Given the description of an element on the screen output the (x, y) to click on. 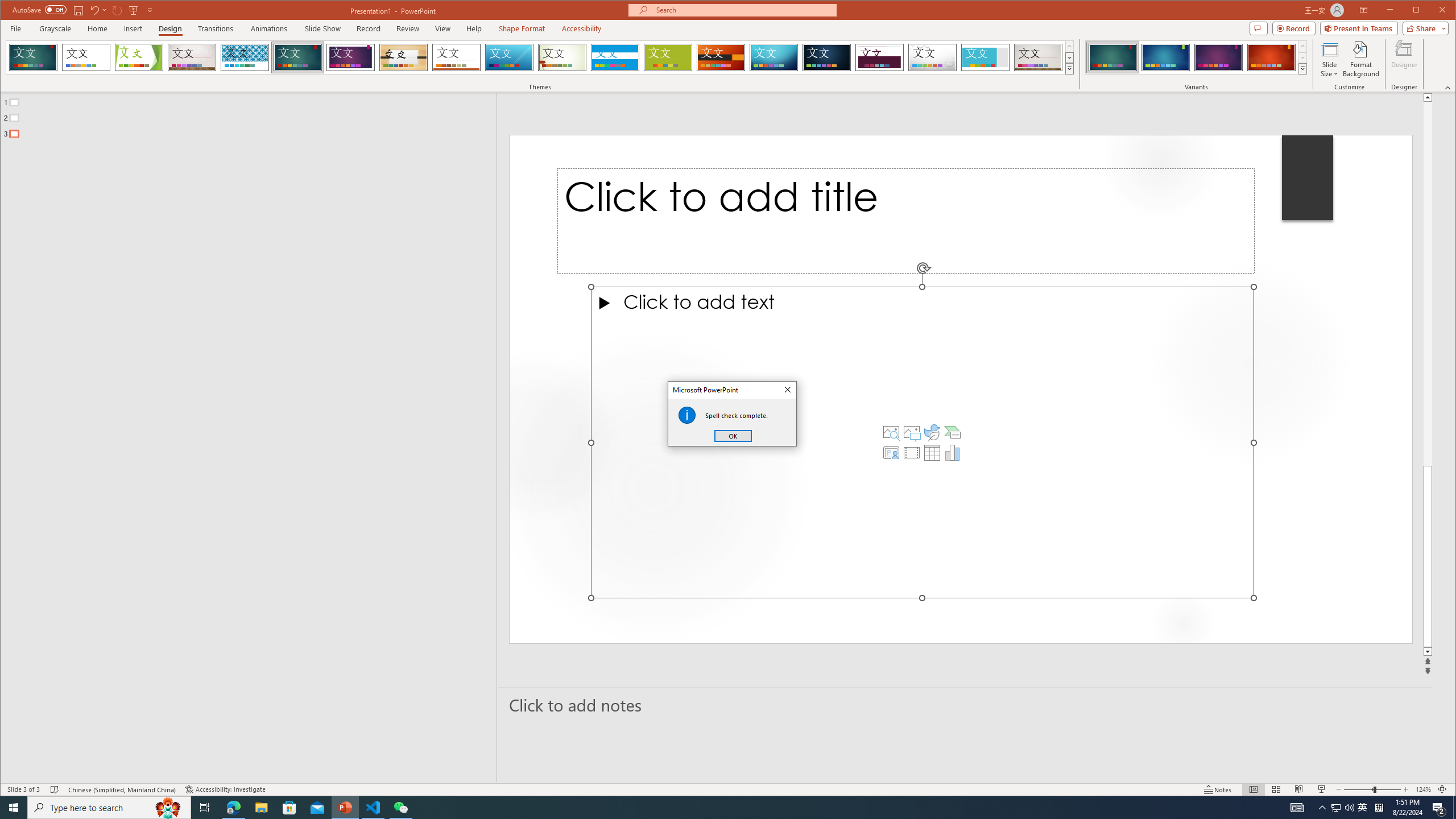
Insert Cameo (890, 452)
Basis (668, 57)
Insert Chart (952, 452)
Class: Static (686, 415)
